Given the description of an element on the screen output the (x, y) to click on. 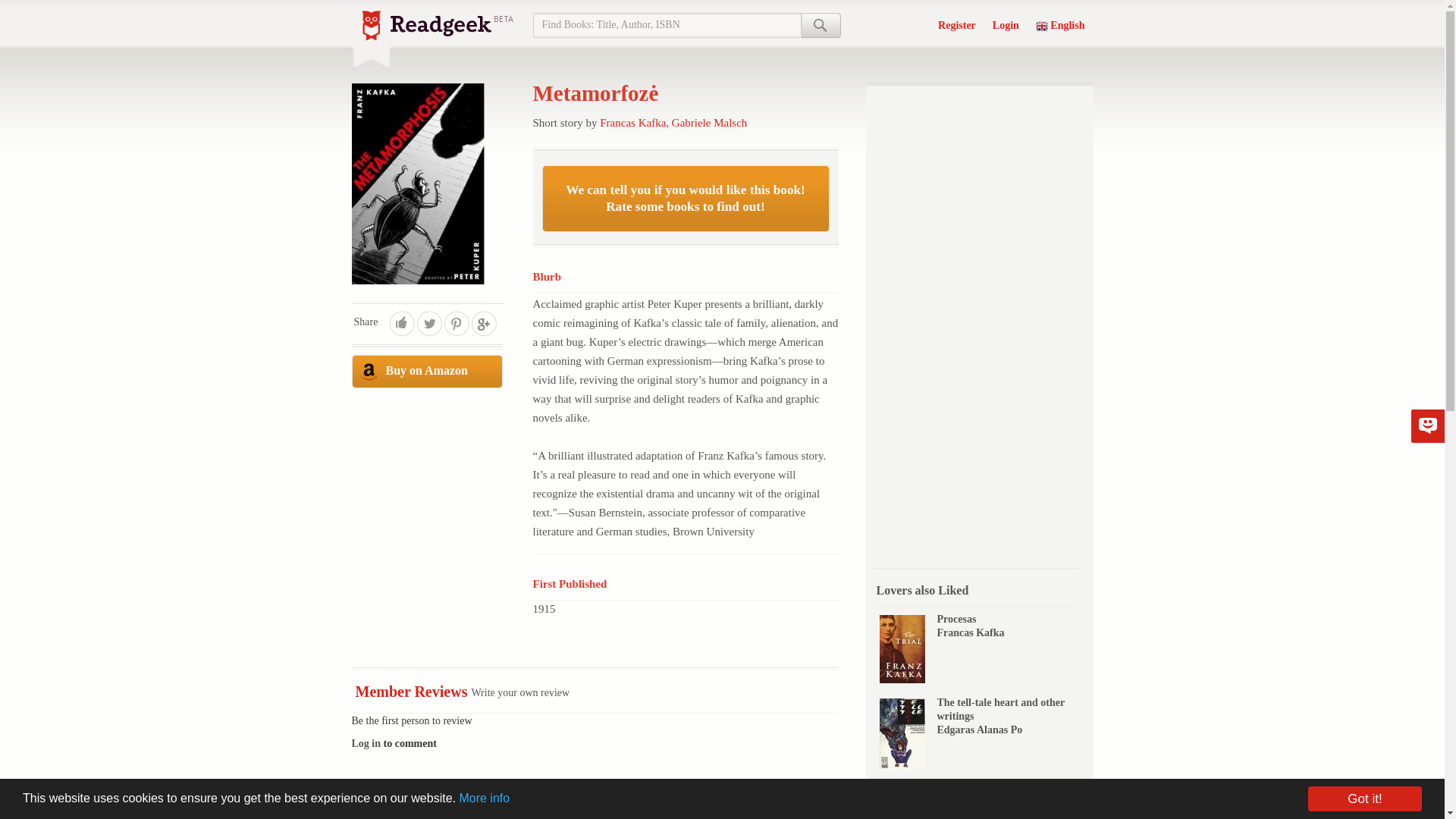
Gabriele Malsch (709, 122)
Register (957, 23)
Francas Kafka (632, 122)
The tell-tale heart and other writings (1001, 708)
Procesas (956, 618)
Suite Francaise (972, 787)
Log in (366, 743)
English (1060, 23)
Login (1005, 23)
 Buy on Amazon (427, 371)
Edgaras Alanas Po (980, 729)
Readgeek (436, 25)
Francas Kafka (970, 632)
 Buy on Amazon (427, 371)
